Given the description of an element on the screen output the (x, y) to click on. 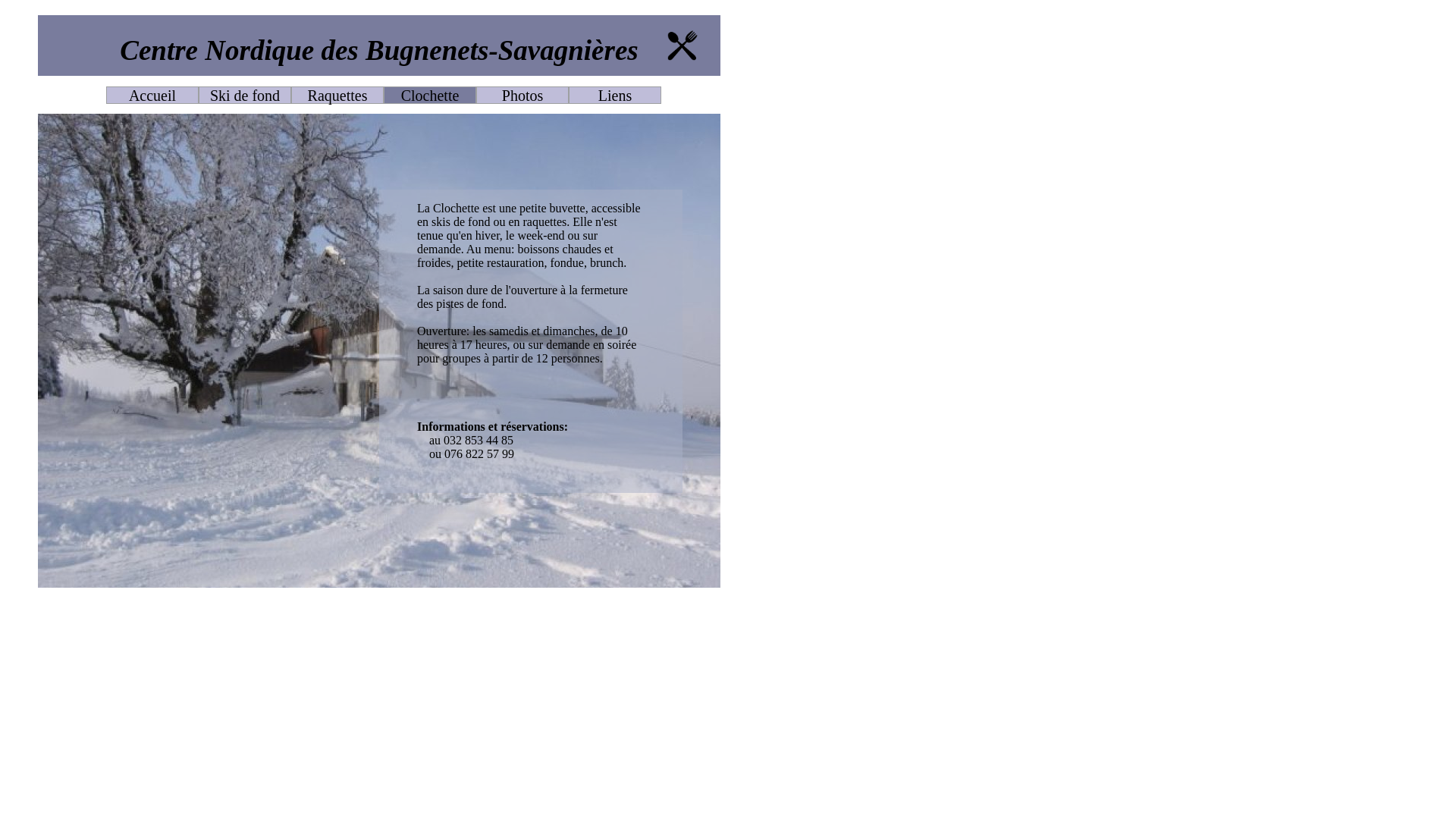
Raquettes Element type: text (337, 95)
Accueil Element type: text (151, 95)
Photos Element type: text (522, 95)
Clochette Element type: text (430, 95)
Ski de fond Element type: text (244, 95)
Liens Element type: text (614, 95)
